Given the description of an element on the screen output the (x, y) to click on. 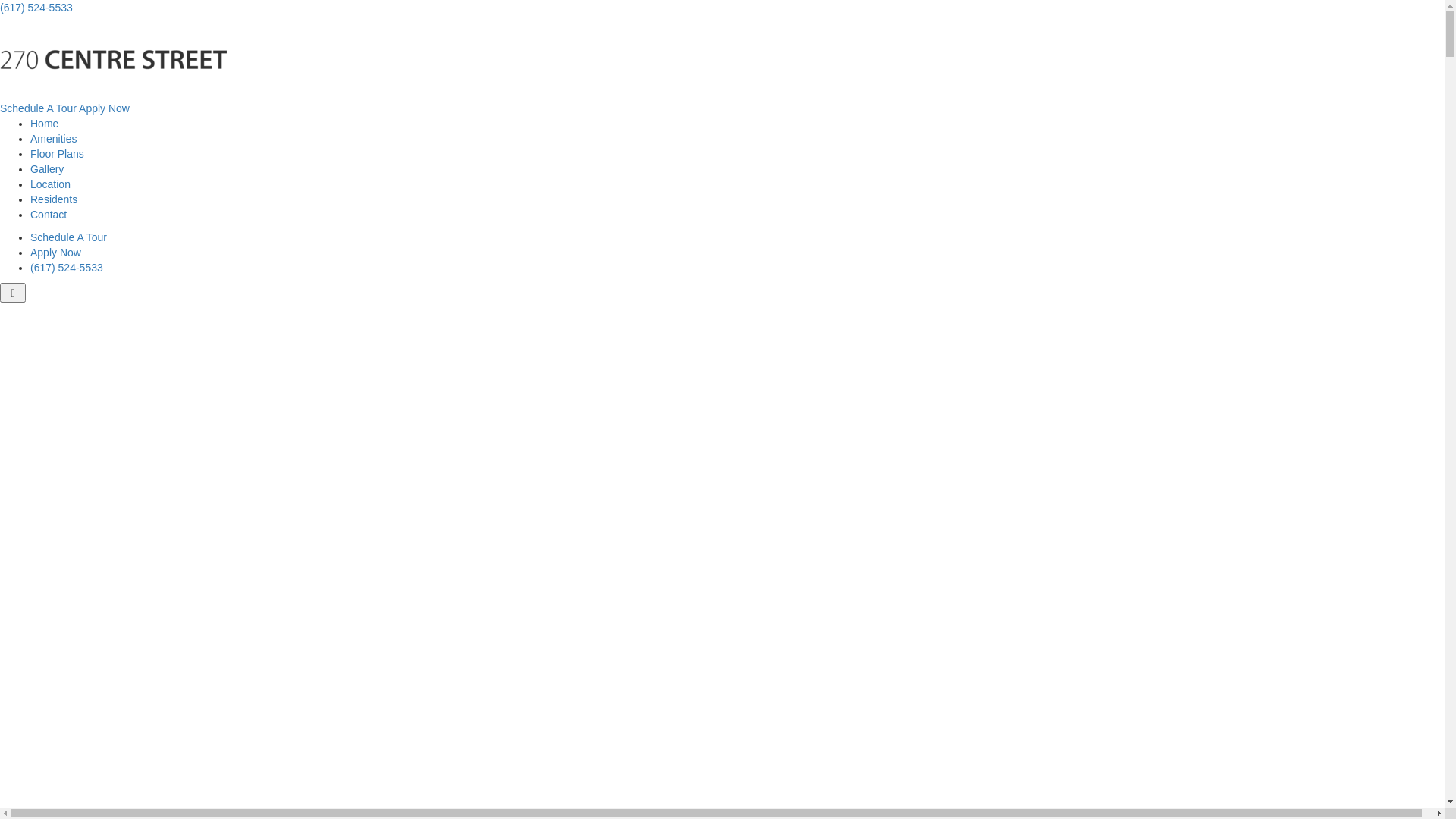
Floor Plans Element type: text (57, 153)
Contact Element type: text (48, 214)
Apply Now Element type: text (103, 108)
Location Element type: text (50, 184)
Home Element type: hover (113, 56)
Schedule A Tour Element type: text (38, 108)
Gallery Element type: text (46, 169)
Schedule A Tour Element type: text (68, 237)
Open Menu Element type: hover (12, 292)
(617) 524-5533 Element type: text (36, 7)
(617) 524-5533 Element type: text (66, 267)
Home Element type: text (44, 123)
Apply Now Element type: text (55, 252)
Amenities Element type: text (53, 138)
Residents Element type: text (53, 199)
